Given the description of an element on the screen output the (x, y) to click on. 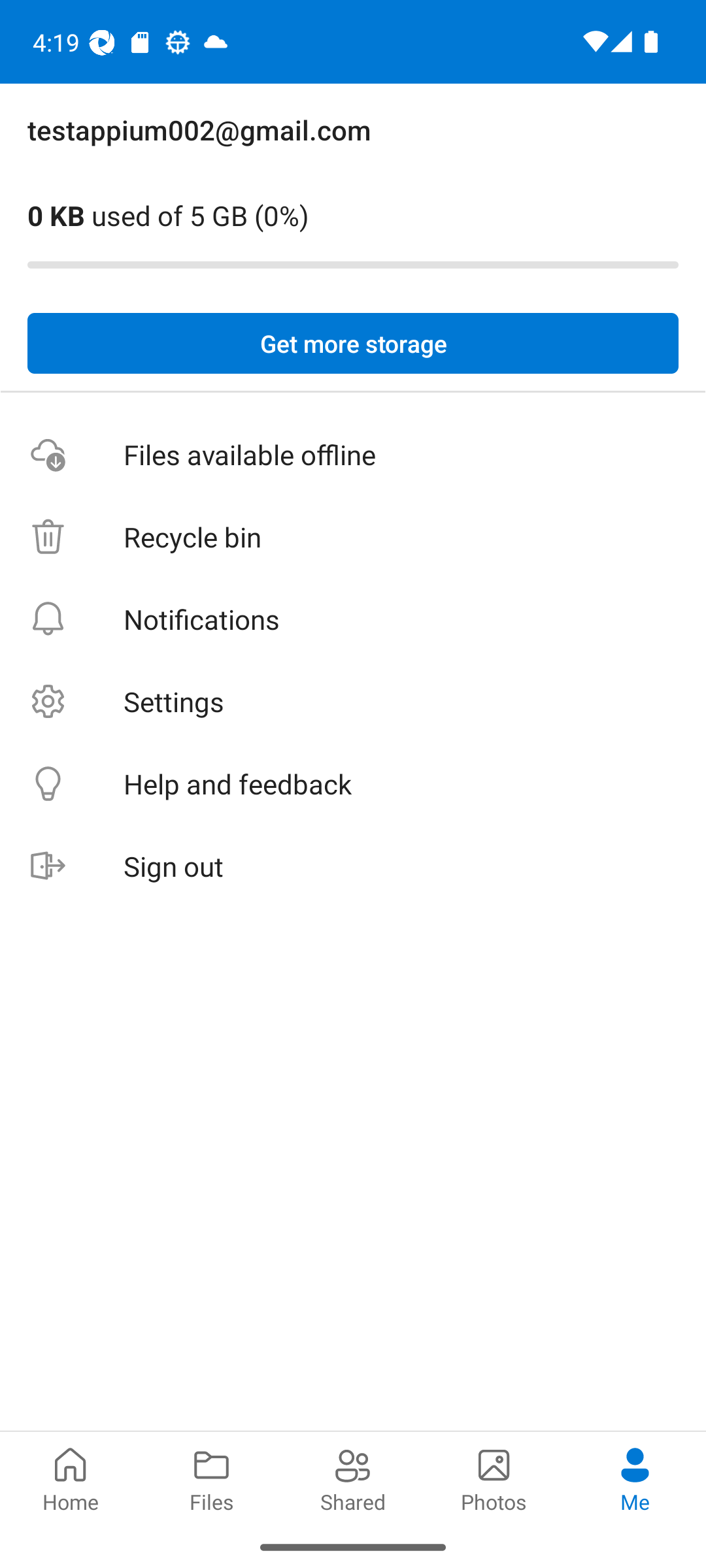
Get more storage (352, 343)
Files available offline (353, 454)
Recycle bin (353, 536)
Notifications (353, 619)
Settings (353, 701)
Help and feedback (353, 783)
Sign out (353, 865)
Home pivot Home (70, 1478)
Files pivot Files (211, 1478)
Shared pivot Shared (352, 1478)
Photos pivot Photos (493, 1478)
